Given the description of an element on the screen output the (x, y) to click on. 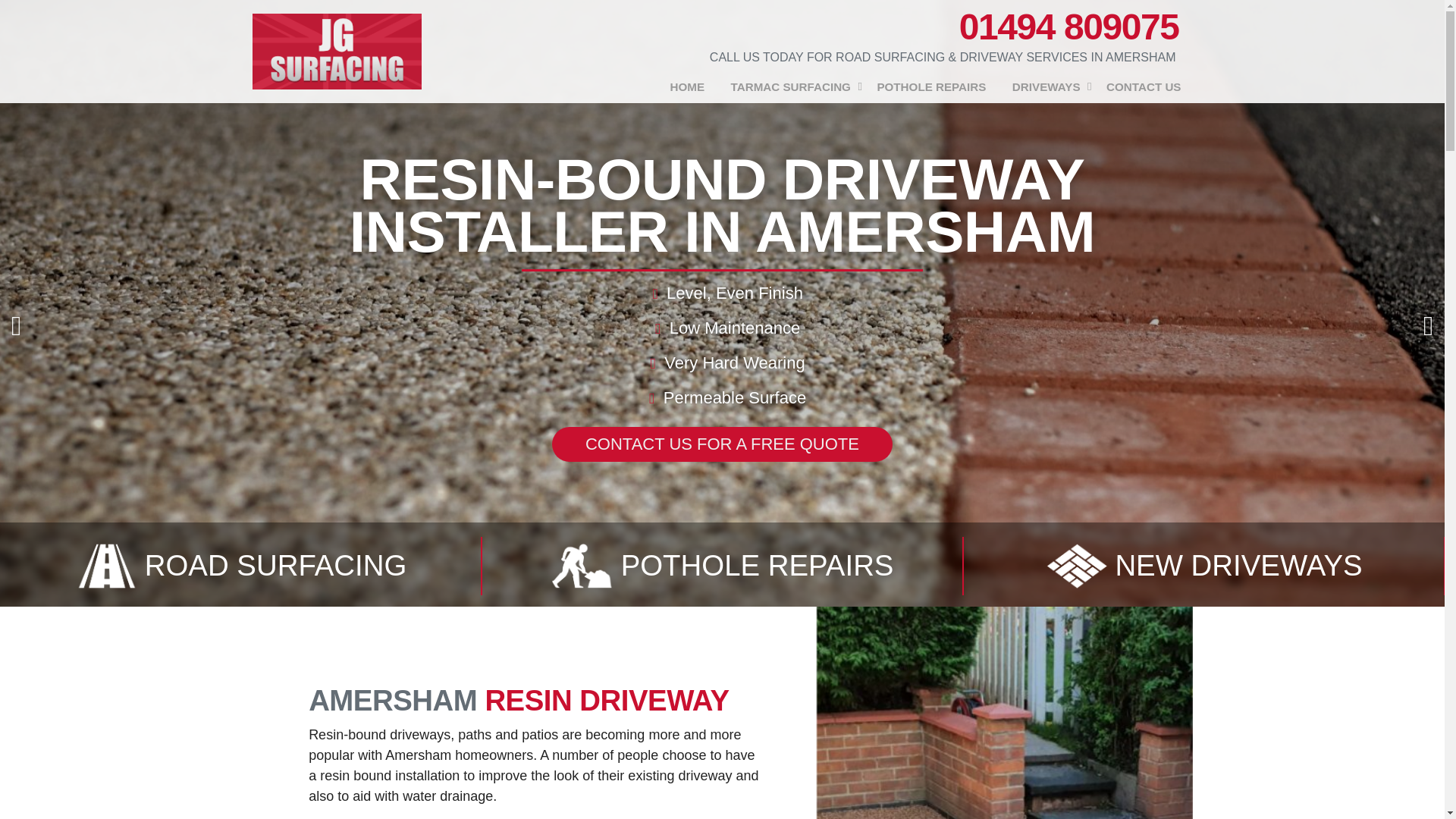
01494 809075 (1069, 27)
DRIVEWAYS (1046, 87)
TARMAC SURFACING (790, 87)
POTHOLE REPAIRS (930, 87)
HOME (687, 87)
CONTACT US (1143, 87)
